Given the description of an element on the screen output the (x, y) to click on. 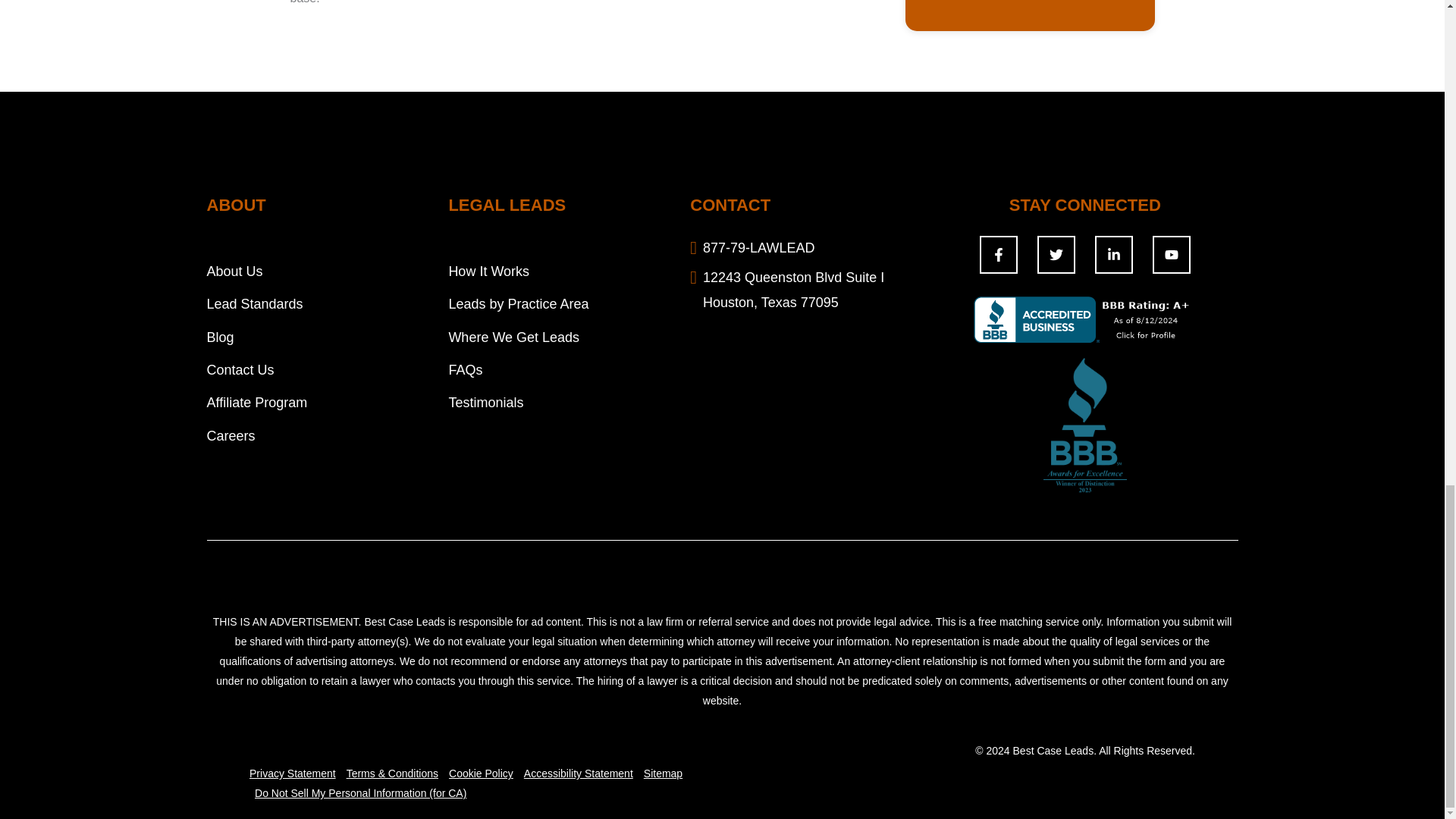
FAQs (464, 369)
How It Works (488, 271)
Blog (219, 337)
Leads by Practice Area (518, 304)
Careers (230, 435)
About Us (234, 271)
Affiliate Program (256, 402)
Testimonials (485, 402)
Privacy Statement (294, 773)
Lead Standards (254, 304)
